Given the description of an element on the screen output the (x, y) to click on. 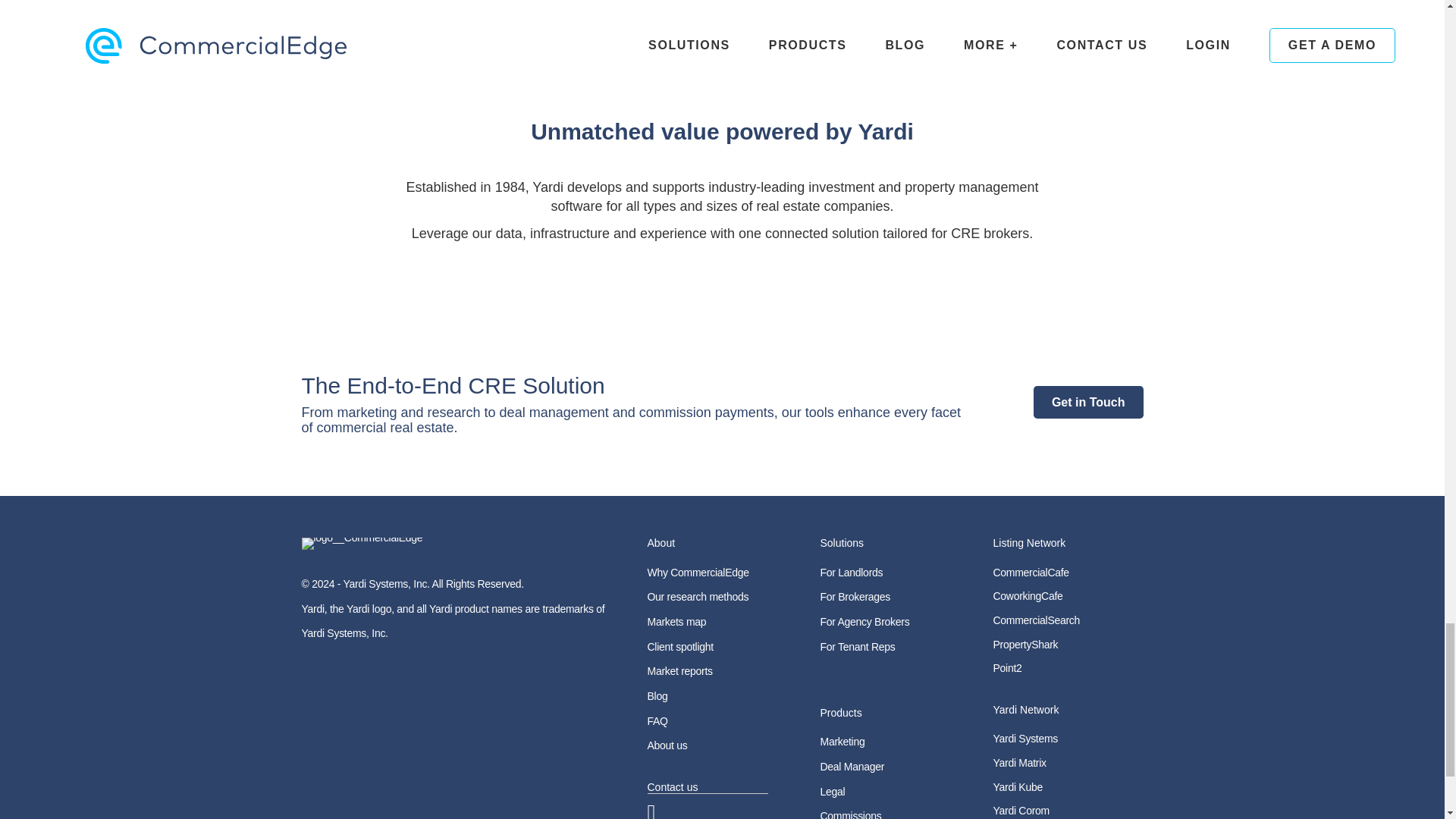
Cousins (461, 40)
Colliers (288, 40)
